Given the description of an element on the screen output the (x, y) to click on. 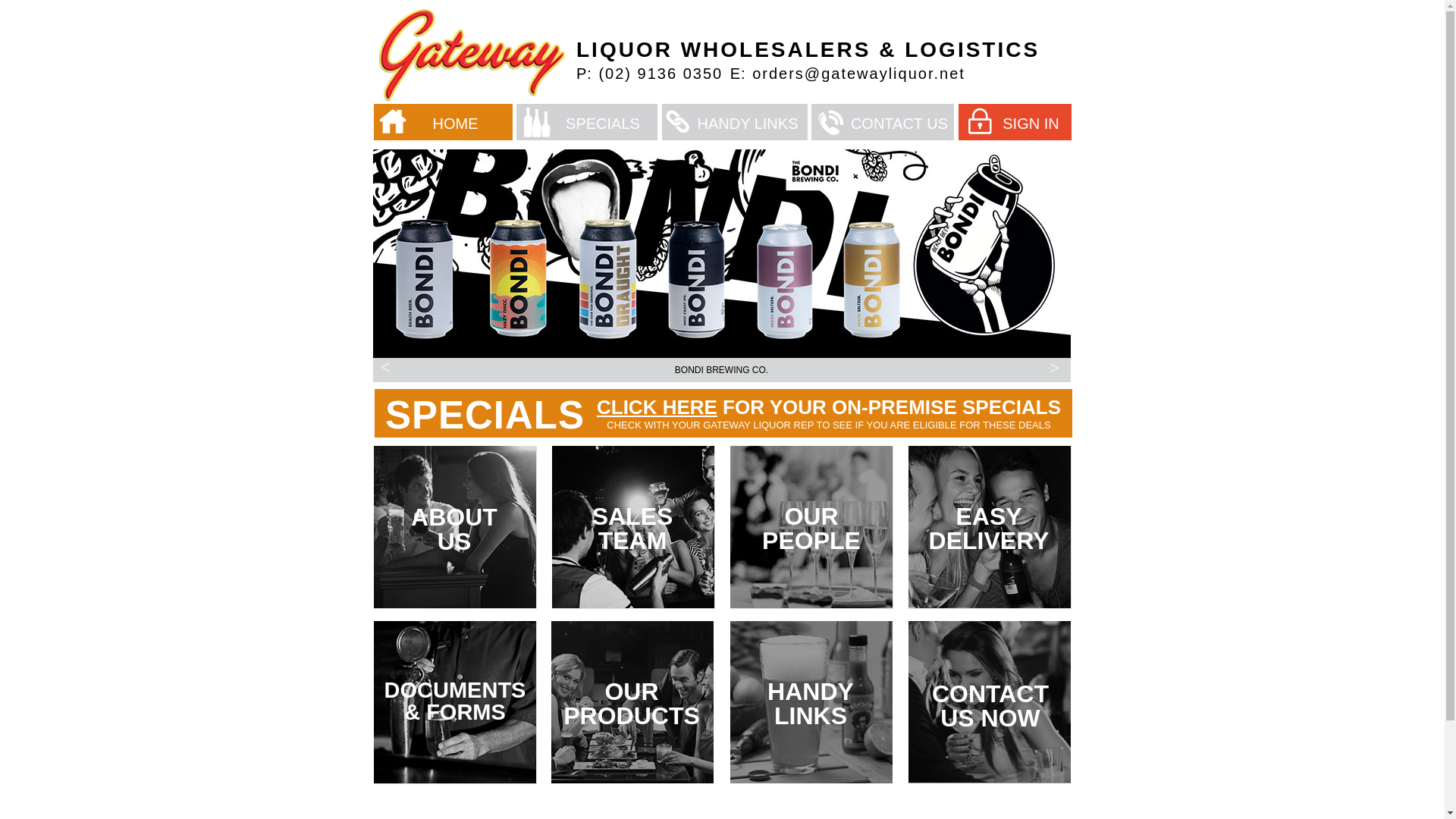
Gateway Liquor Wholesalers Sydney Sign In Element type: hover (978, 121)
E: Element type: text (737, 73)
Gateway Liquor Wholesalers Sydney Credit Forms Element type: hover (454, 702)
CONTACT Element type: text (886, 123)
Gateway Liquor Wholesalers Sydney Contact Us Element type: hover (830, 122)
Gateway Liquor Wholesalers Sydney Specials Element type: hover (537, 121)
HOME Element type: text (454, 122)
Gateway Liquor Wholesalers Sydney Home Element type: hover (392, 120)
Gateway Liquor Wholesalers Sydney Our Products Element type: hover (631, 702)
Gateway Liquor Wholesalers Sydney Handy Links Element type: hover (810, 702)
Gateway Liquor Wholesalers Sydney Logo Element type: hover (470, 54)
Gateway Liquor Wholesalers Sydney Handy Links Element type: hover (677, 121)
Gateway Liquor Wholesalers Sydney Easy Delivery Element type: hover (991, 528)
SPECIALS Element type: text (585, 121)
orders@gatewayliquor.net Element type: text (858, 73)
Gateway Liquor Wholesalers Sydney Sales Team Element type: hover (635, 528)
Gateway Liquor Wholesalers Sydney Stone & Wood Beer Element type: hover (721, 252)
Gateway Liquor Wholesalers Sydney Our People Element type: hover (810, 526)
Gateway Liquor Wholesalers Sydney Contact Us Now Element type: hover (988, 701)
HANDY LINKS Element type: text (746, 122)
HANDY
LINKS Element type: text (811, 714)
SIGN IN Element type: text (1014, 121)
Gateway Liquor Wholesalers Sydney About Us Element type: hover (456, 528)
CONTACT
US NOW Element type: text (990, 716)
